Given the description of an element on the screen output the (x, y) to click on. 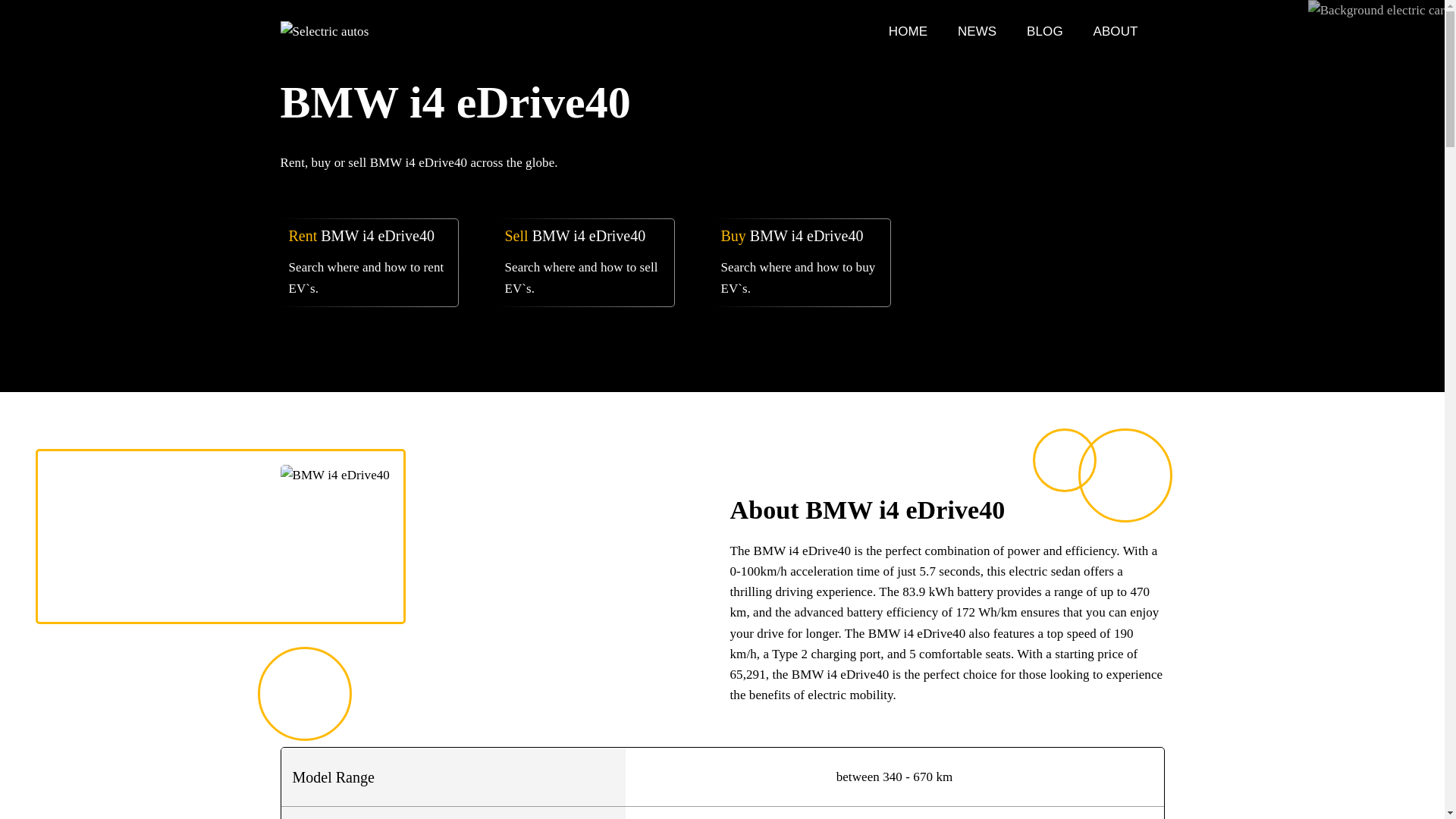
BLOG (1045, 31)
NEWS (979, 31)
ABOUT (1115, 31)
HOME (909, 31)
